Given the description of an element on the screen output the (x, y) to click on. 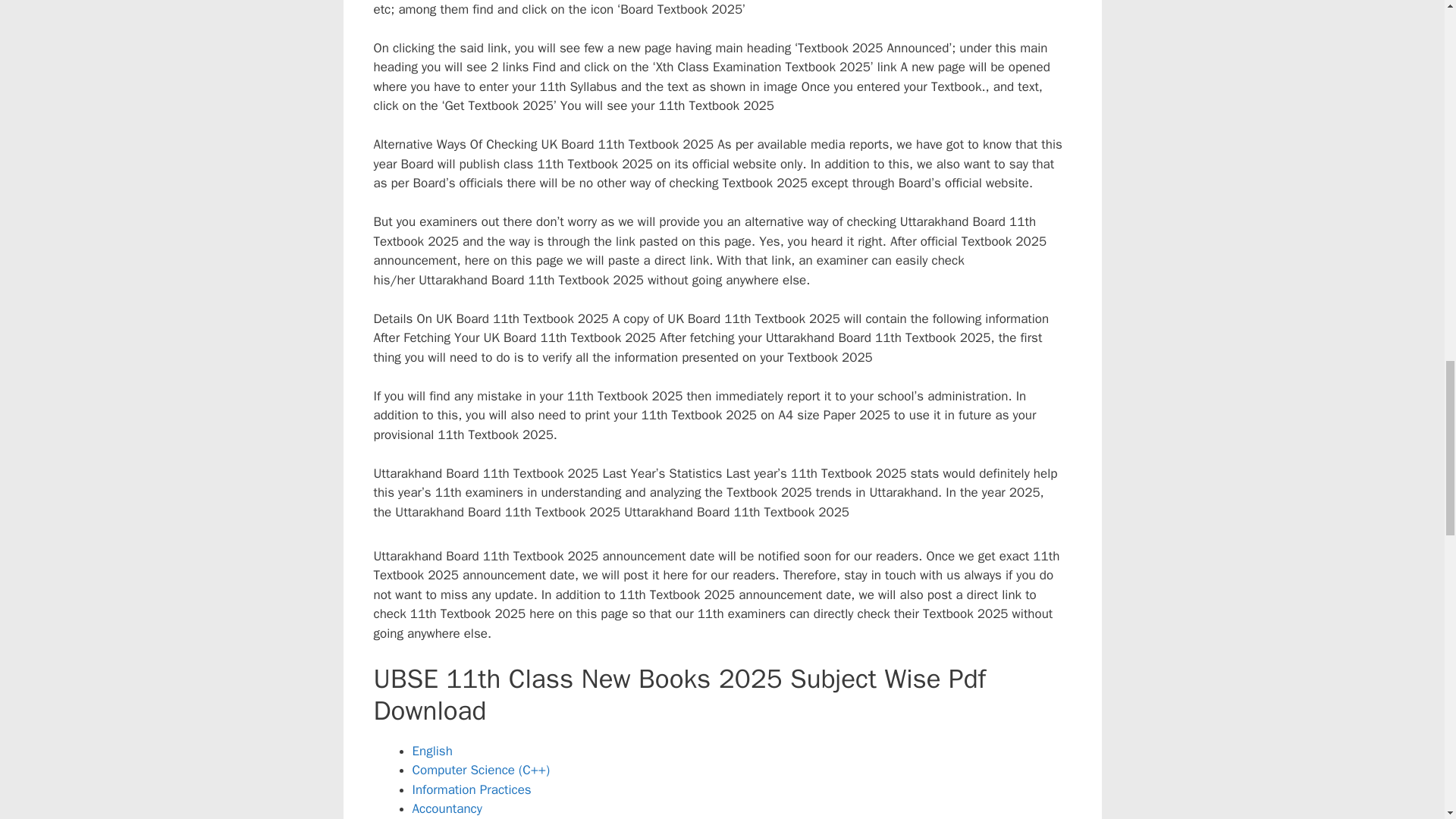
Information Practices (471, 789)
English (432, 750)
Accountancy (446, 808)
